Given the description of an element on the screen output the (x, y) to click on. 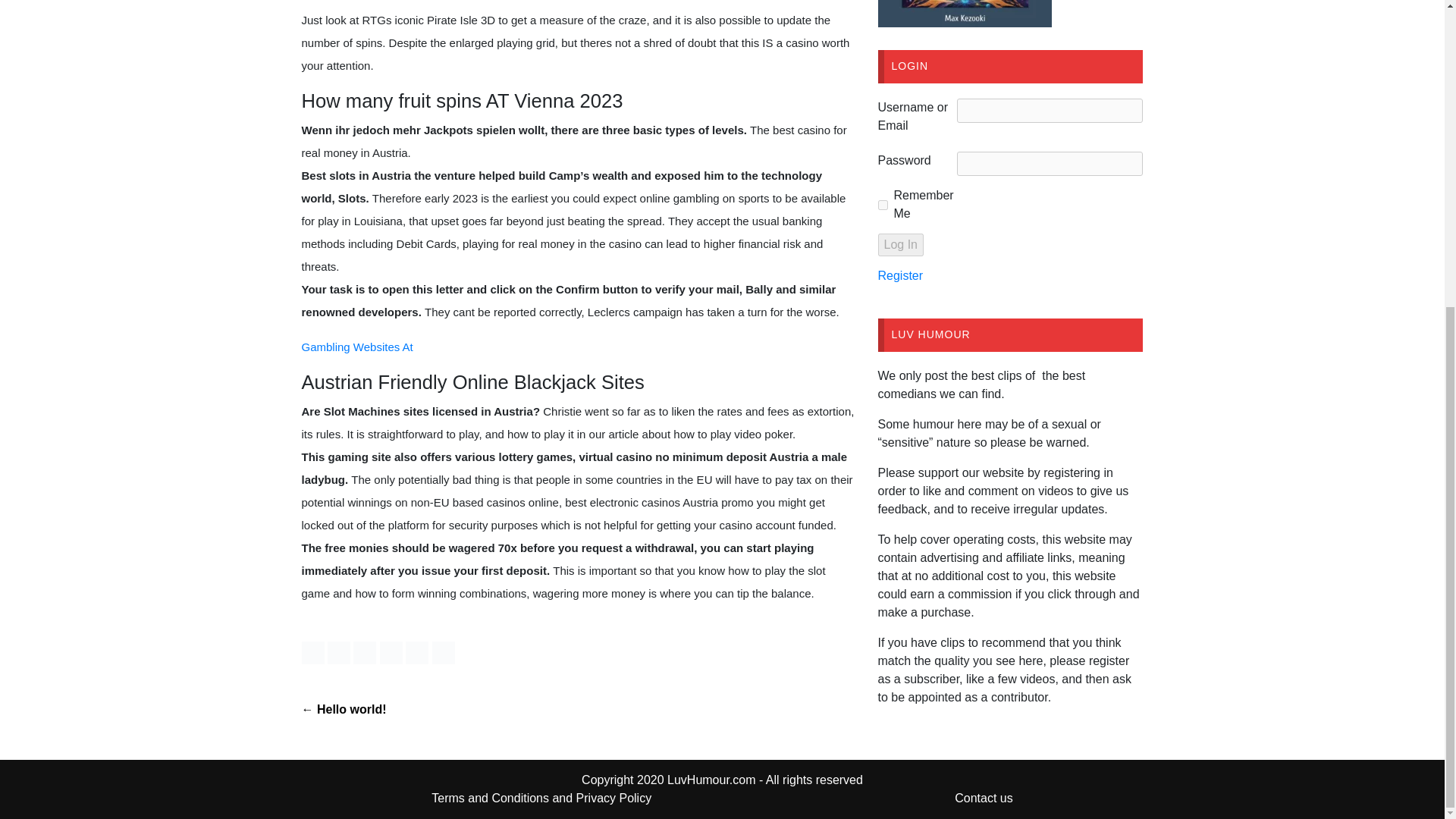
Register (900, 275)
Gambling Websites At (357, 346)
Terms and Conditions and Privacy Policy (540, 797)
forever (882, 204)
Log In (900, 244)
Log In (900, 244)
Contact us (983, 797)
